Given the description of an element on the screen output the (x, y) to click on. 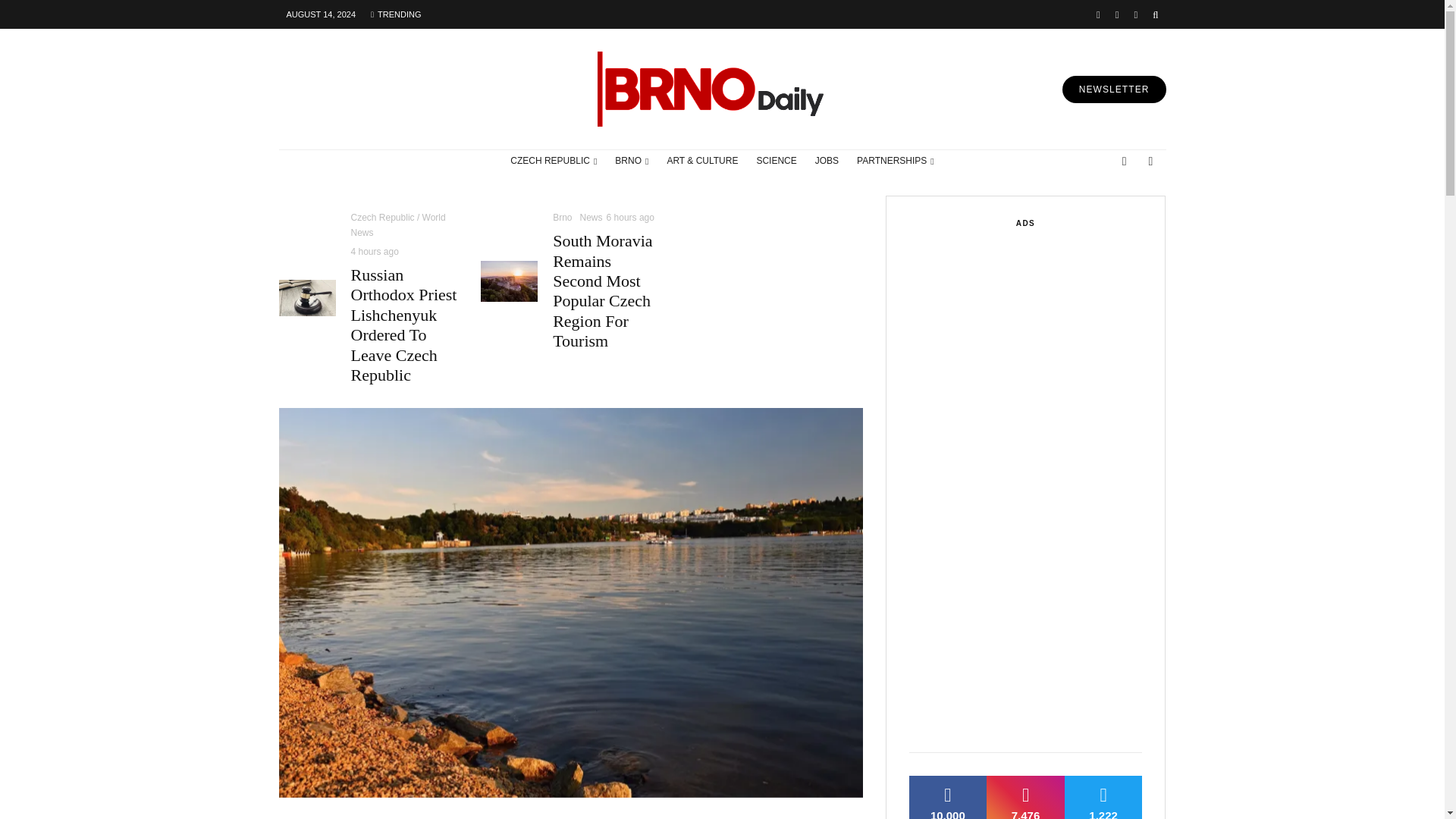
TRENDING (395, 14)
BRNO (631, 160)
NEWSLETTER (1114, 89)
CZECH REPUBLIC (552, 160)
